Given the description of an element on the screen output the (x, y) to click on. 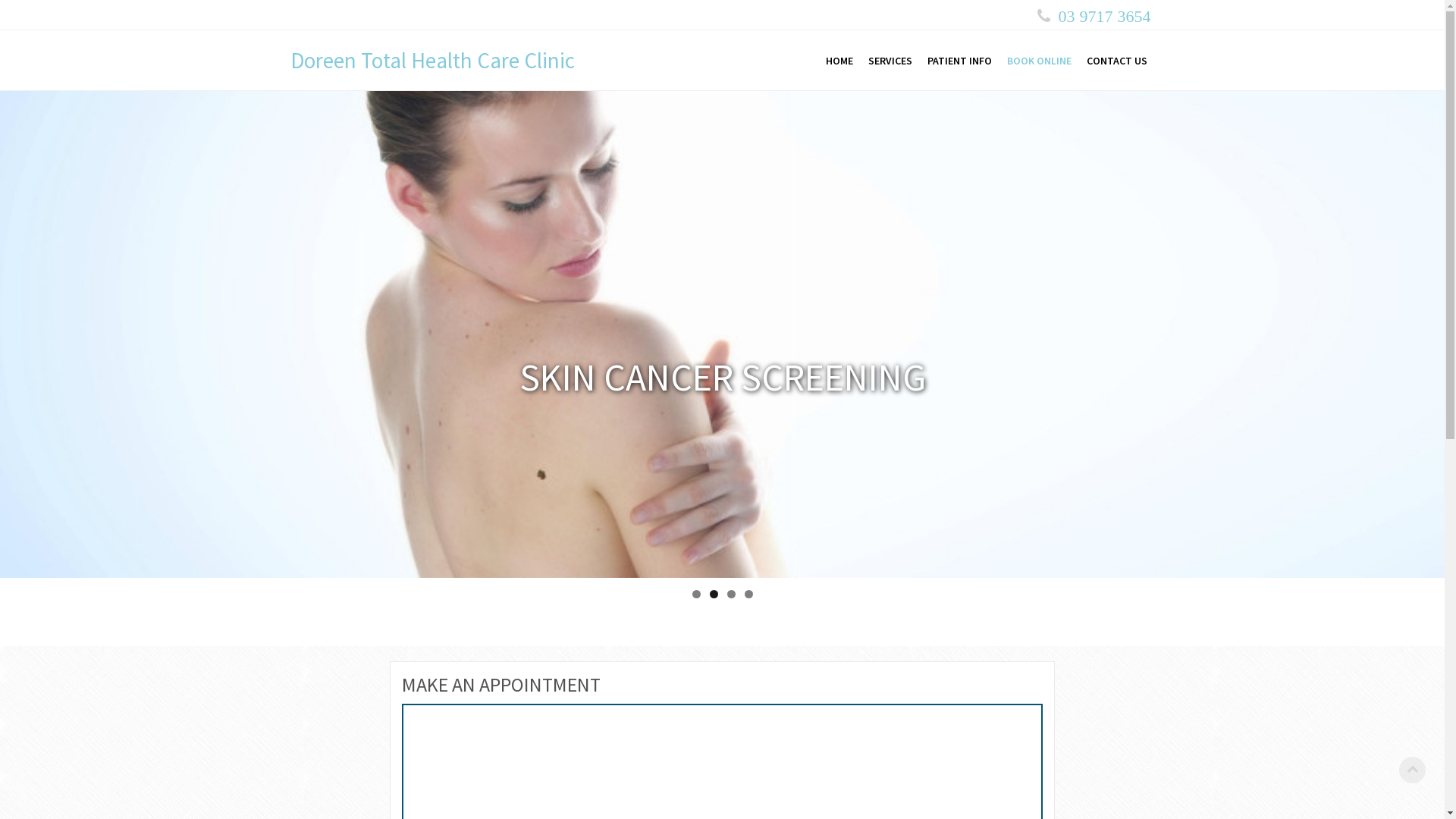
HOME Element type: text (838, 60)
2 Element type: text (713, 593)
CONTACT US Element type: text (1116, 60)
Doreen Total Health Care Clinic Element type: text (431, 60)
SERVICES Element type: text (889, 60)
03 9717 3654 Element type: text (1104, 16)
BOOK ONLINE Element type: text (1039, 60)
PATIENT INFO Element type: text (958, 60)
4 Element type: text (748, 593)
1 Element type: text (695, 593)
3 Element type: text (730, 593)
